Given the description of an element on the screen output the (x, y) to click on. 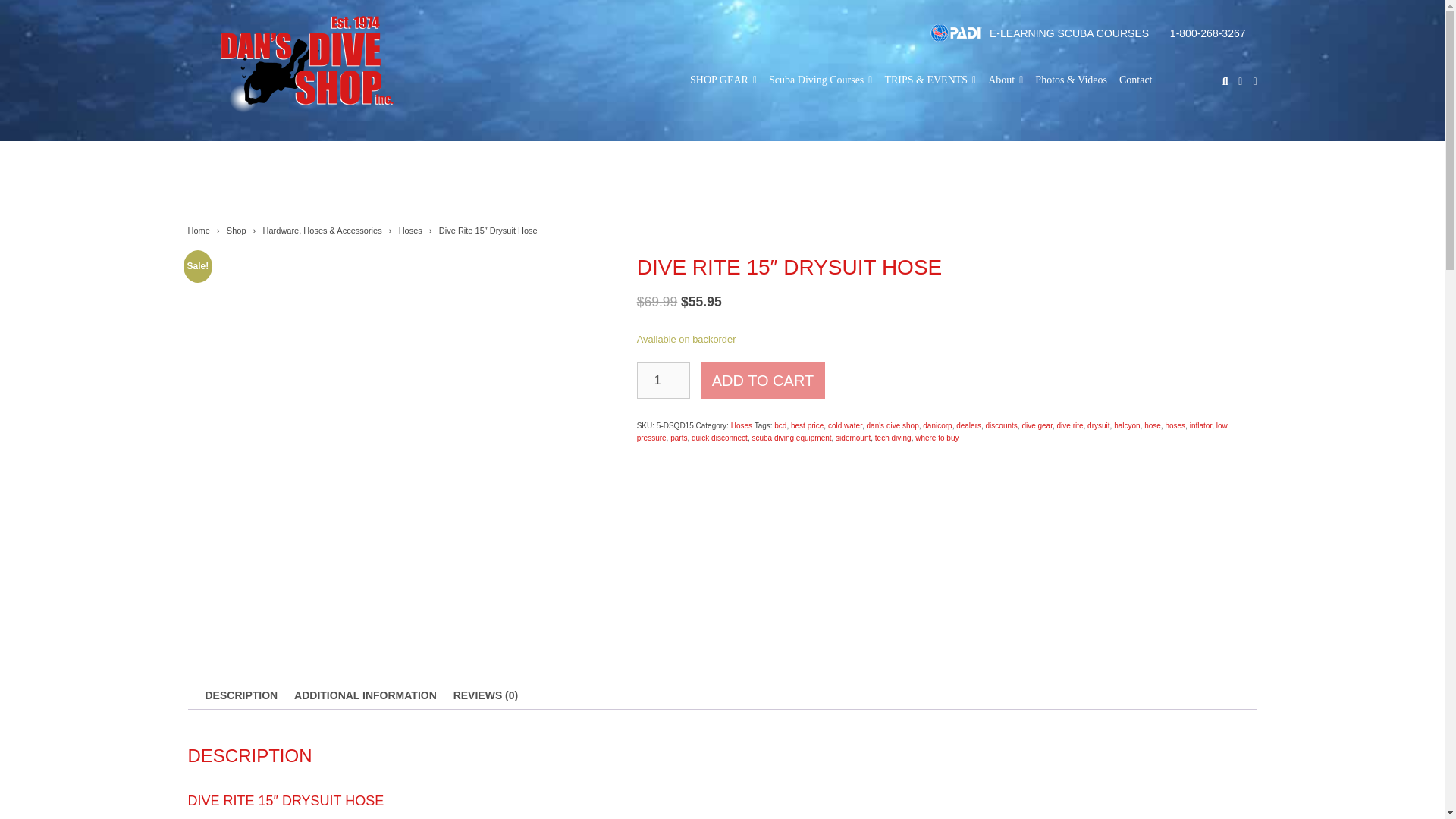
E-LEARNING SCUBA COURSES (1069, 32)
1 (663, 380)
1-800-268-3267 (1208, 32)
SHOP GEAR (723, 86)
